Given the description of an element on the screen output the (x, y) to click on. 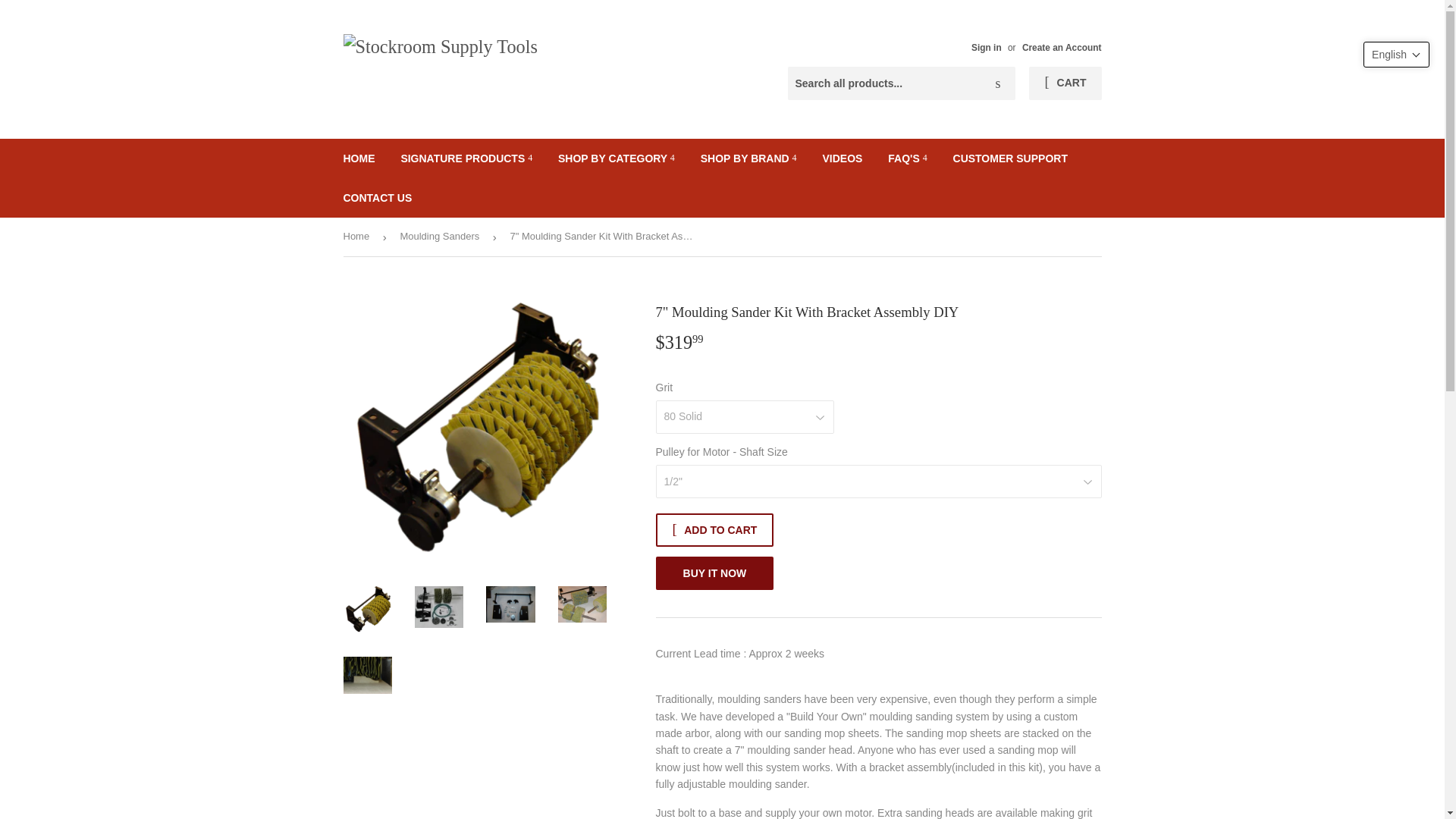
CART (1064, 82)
Sign in (986, 47)
Create an Account (1062, 47)
Search (997, 83)
